Given the description of an element on the screen output the (x, y) to click on. 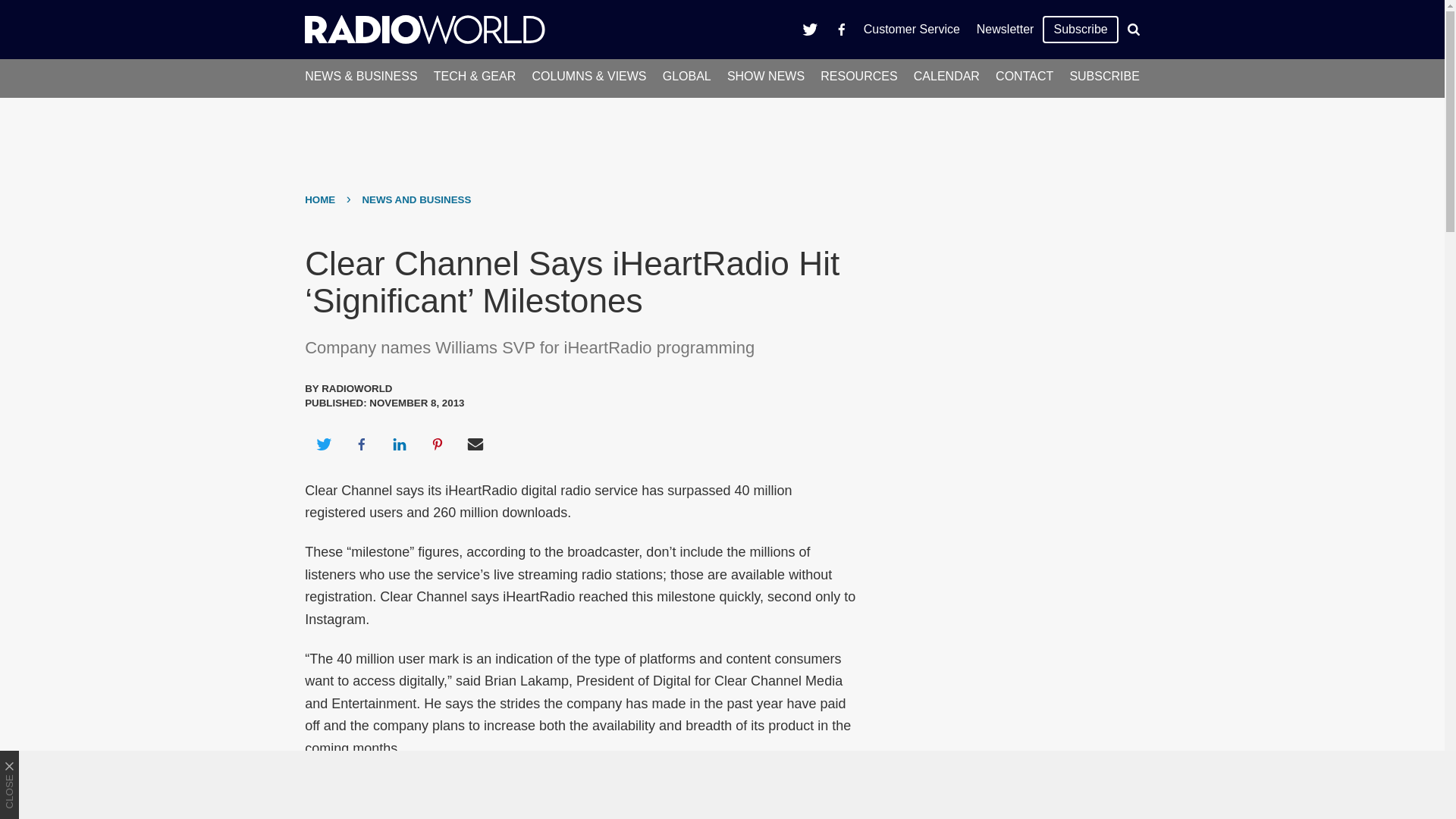
Share on Facebook (361, 444)
Newsletter (1005, 29)
Customer Service (912, 29)
Share via Email (476, 444)
Share on LinkedIn (399, 444)
Share on Twitter (323, 444)
Share on Pinterest (438, 444)
